Given the description of an element on the screen output the (x, y) to click on. 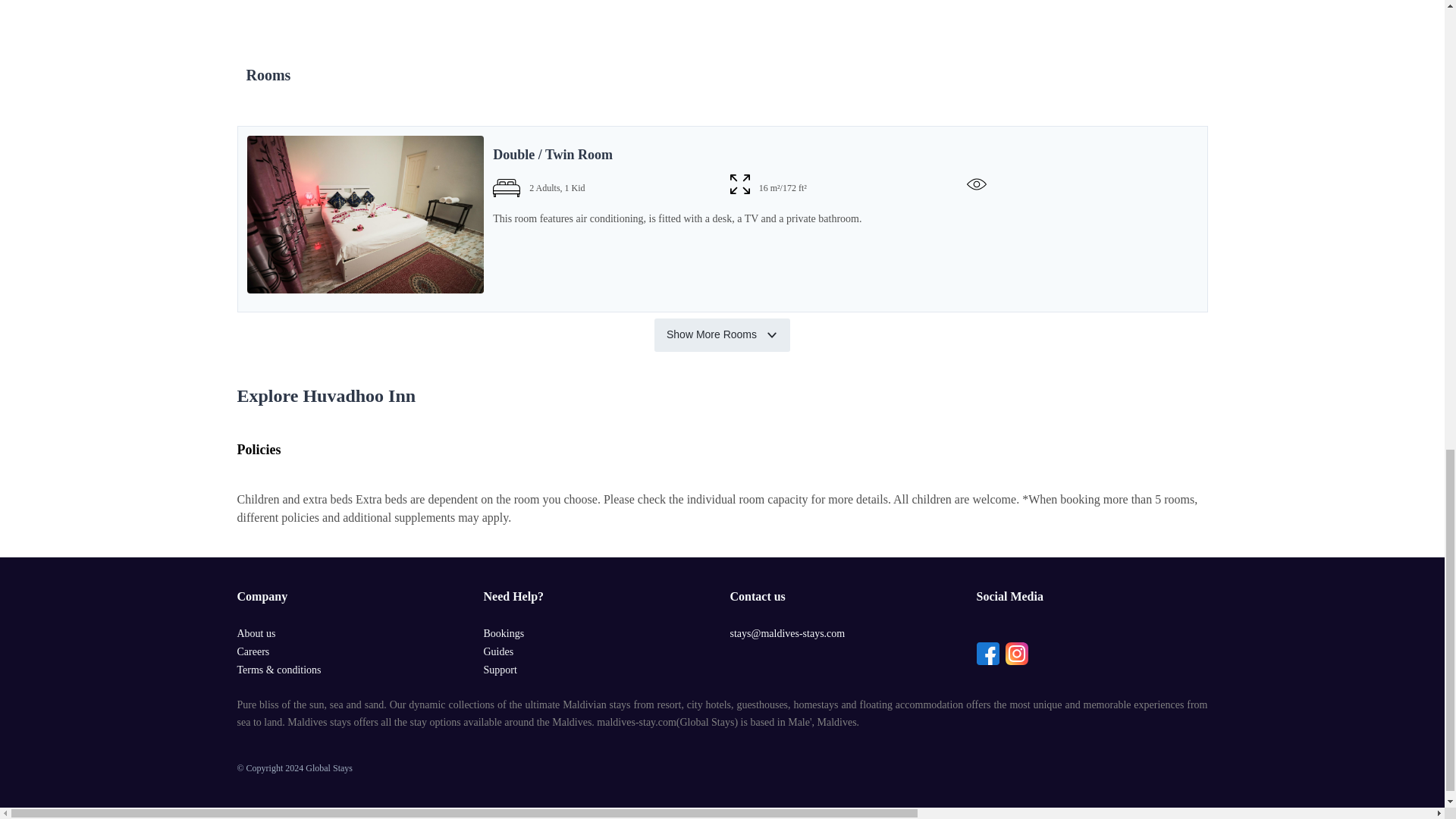
Careers (252, 651)
Follow us on instagram (1016, 653)
Bookings (503, 633)
Show More Rooms (721, 335)
About us (255, 633)
Support (499, 669)
maldives-stay.com (635, 722)
Follow us on facebook (987, 653)
Guides (498, 651)
